Given the description of an element on the screen output the (x, y) to click on. 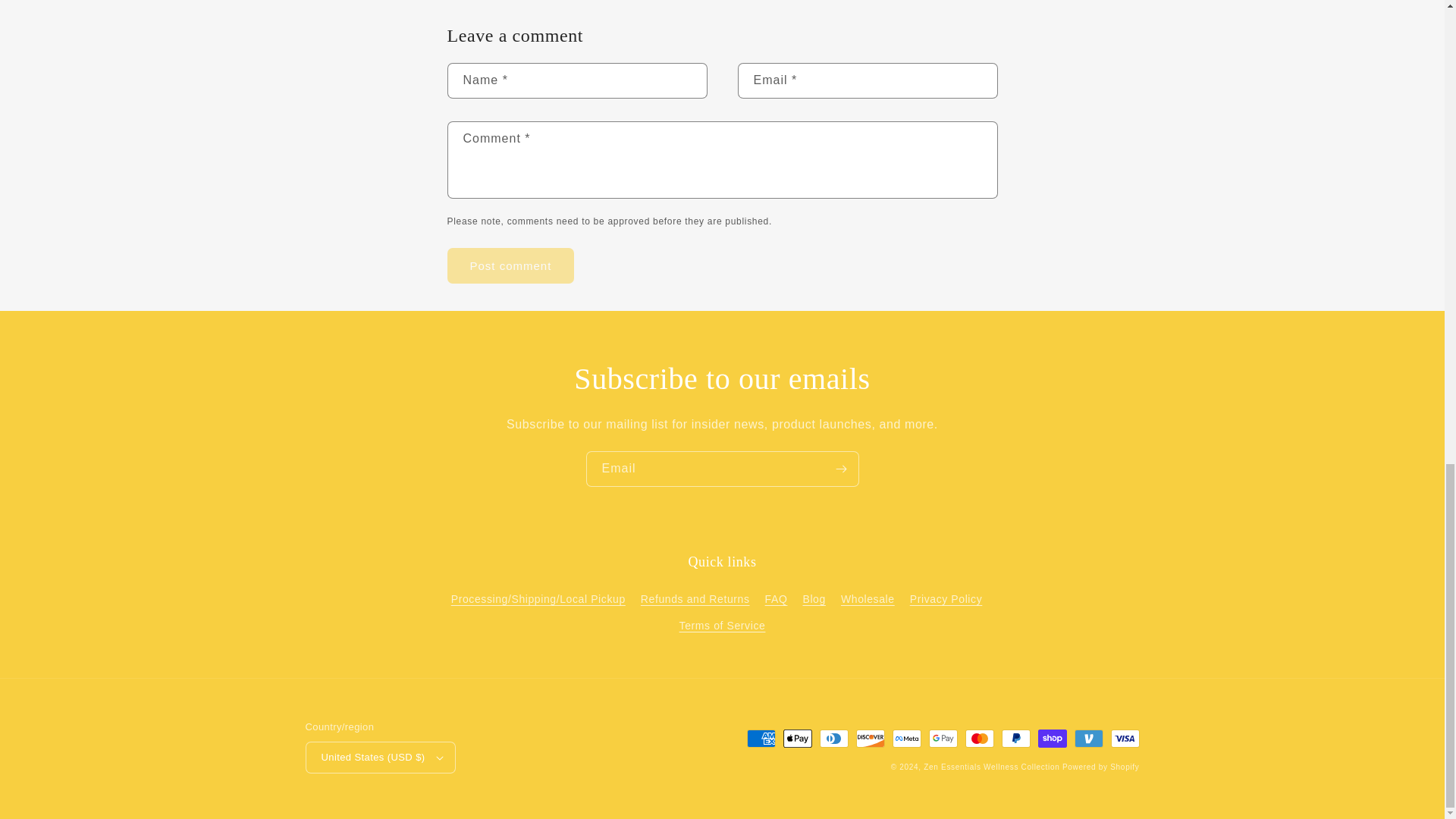
Post comment (510, 265)
Post comment (510, 265)
